Given the description of an element on the screen output the (x, y) to click on. 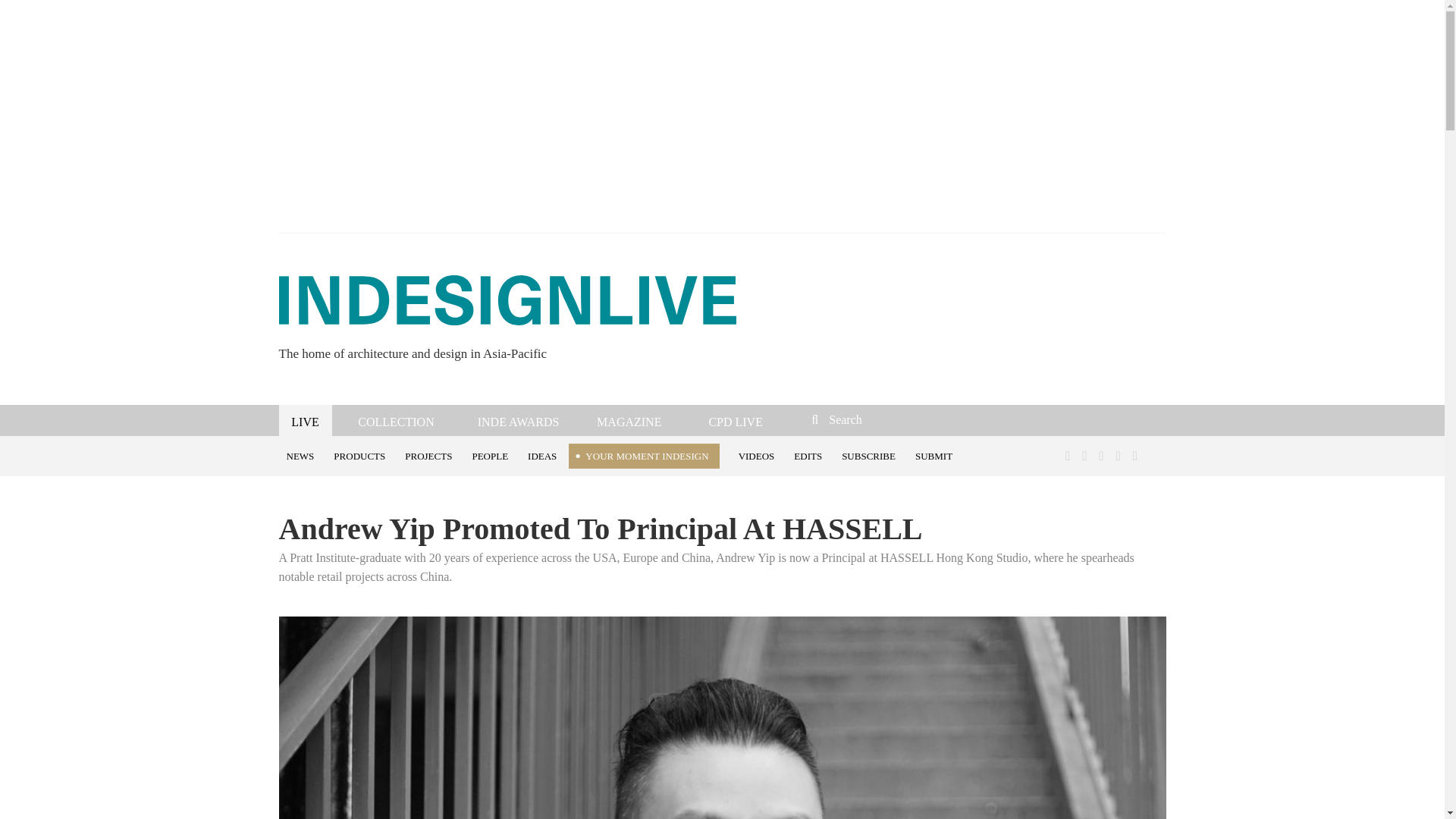
SUBMIT (935, 455)
NEWS (302, 455)
PROJECTS (430, 455)
PEOPLE (491, 455)
Search (913, 418)
VIDEOS (758, 455)
EDITS (810, 455)
YOUR MOMENT INDESIGN (644, 455)
PRODUCTS (361, 455)
SUBSCRIBE (870, 455)
IDEAS (544, 455)
